Given the description of an element on the screen output the (x, y) to click on. 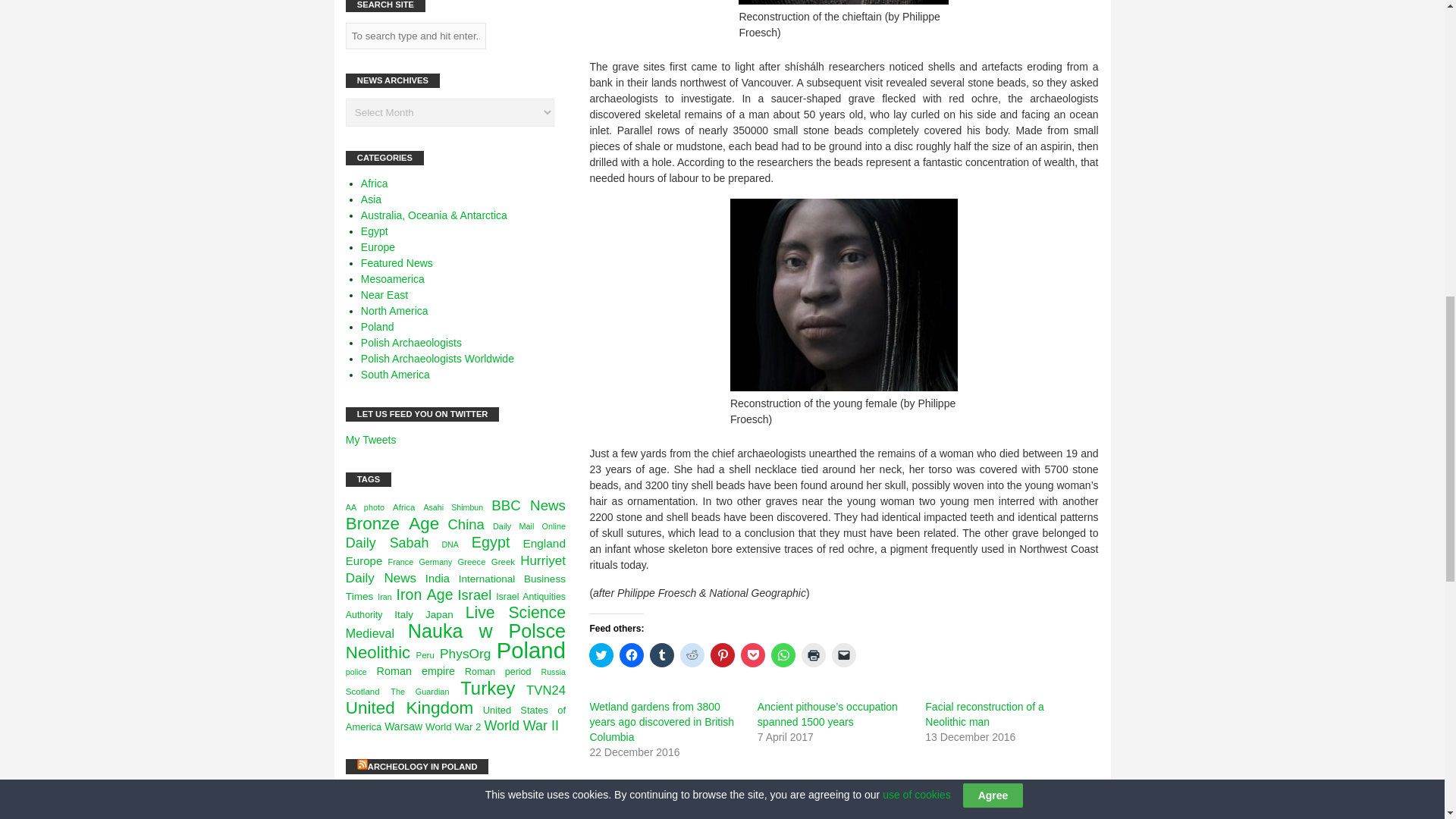
Posts by Archaeo Feed (672, 788)
Click to share on Twitter (600, 654)
Archaeo Feed (672, 788)
Wednesday, Jul 12, 2017, 12:00 pm (611, 788)
Click to share on Facebook (631, 654)
Click to share on Reddit (691, 654)
BRITISH COLUMBIA (818, 817)
NORTH AMERICA (681, 805)
